Given the description of an element on the screen output the (x, y) to click on. 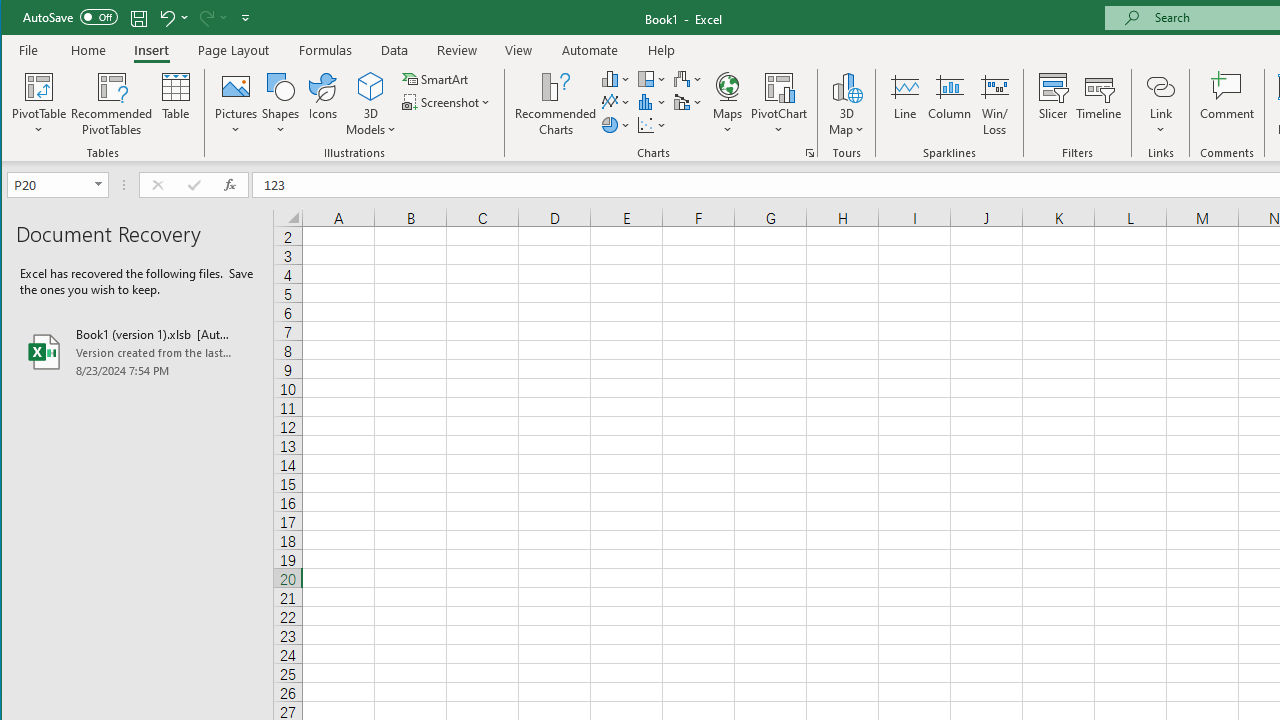
Recommended Charts (809, 152)
Insert Column or Bar Chart (616, 78)
Insert Statistic Chart (652, 101)
PivotTable (39, 86)
Link (1160, 104)
Insert Waterfall, Funnel, Stock, Surface, or Radar Chart (688, 78)
Comment (1227, 104)
